Given the description of an element on the screen output the (x, y) to click on. 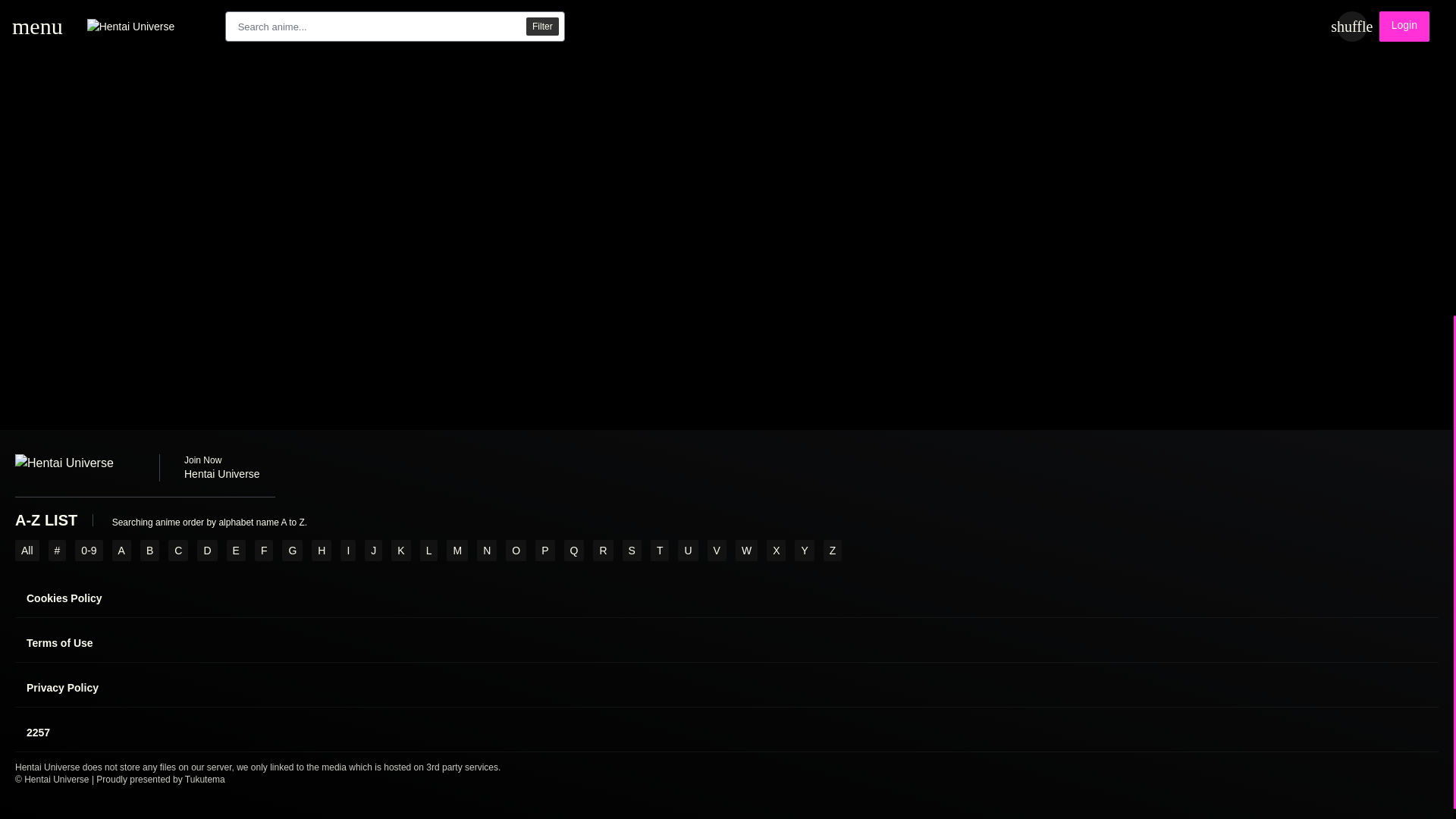
tukutema (204, 778)
